Given the description of an element on the screen output the (x, y) to click on. 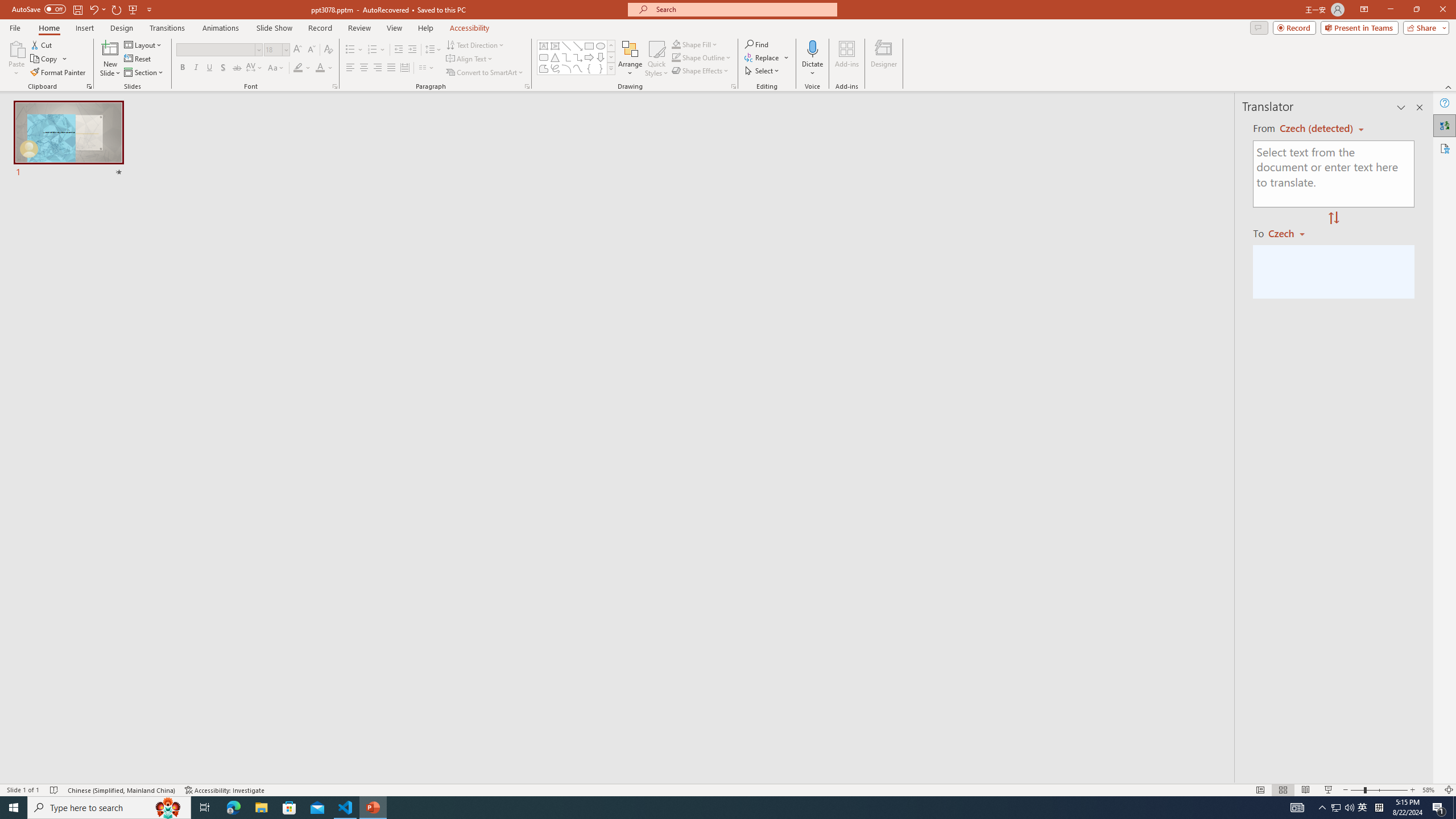
Zoom 58% (1430, 790)
